Given the description of an element on the screen output the (x, y) to click on. 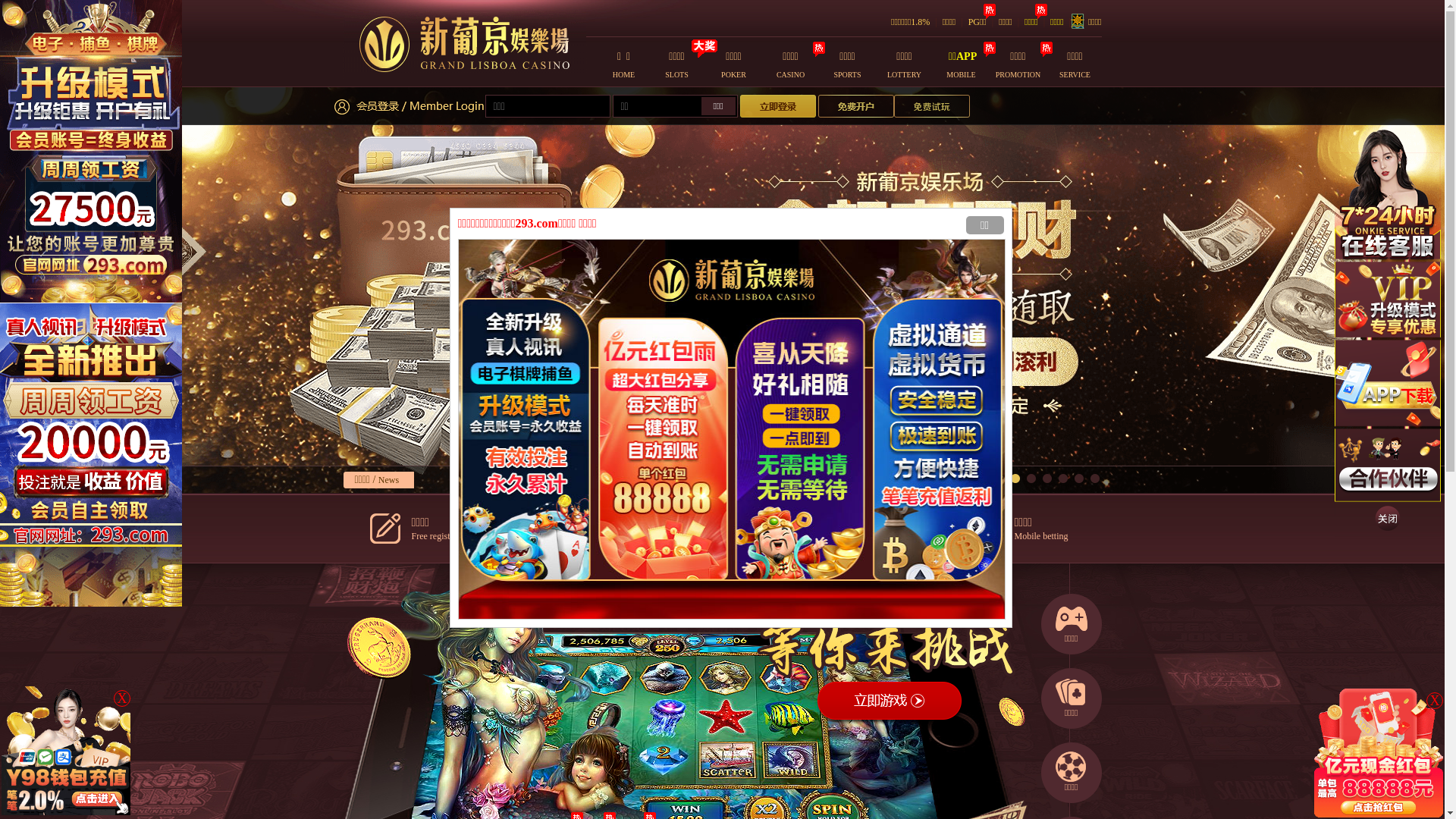
X Element type: text (121, 698)
X Element type: text (1434, 700)
